Given the description of an element on the screen output the (x, y) to click on. 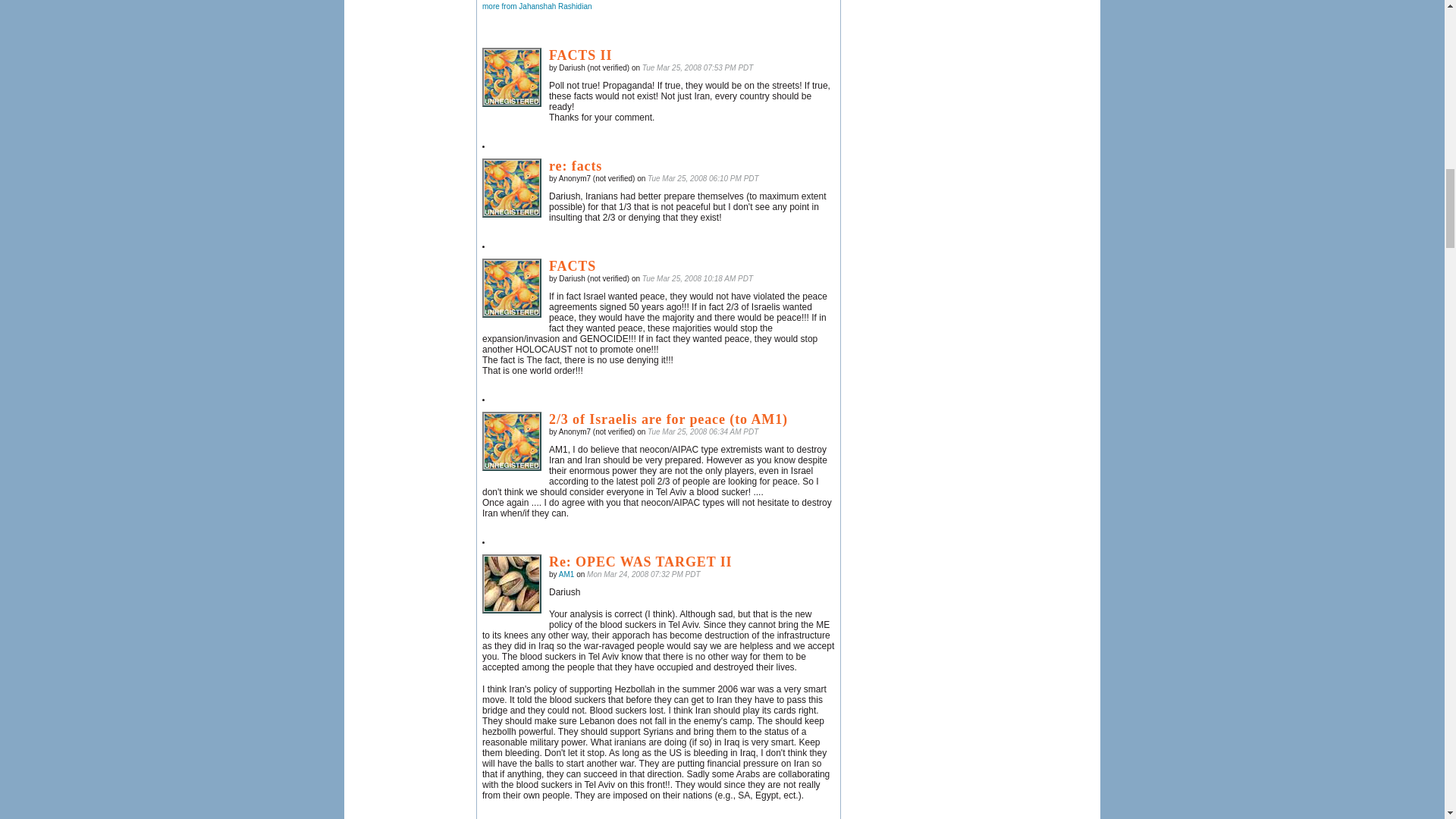
default (511, 287)
View user profile. (567, 574)
default (511, 440)
AM1 (511, 583)
default (511, 77)
default (511, 187)
